Given the description of an element on the screen output the (x, y) to click on. 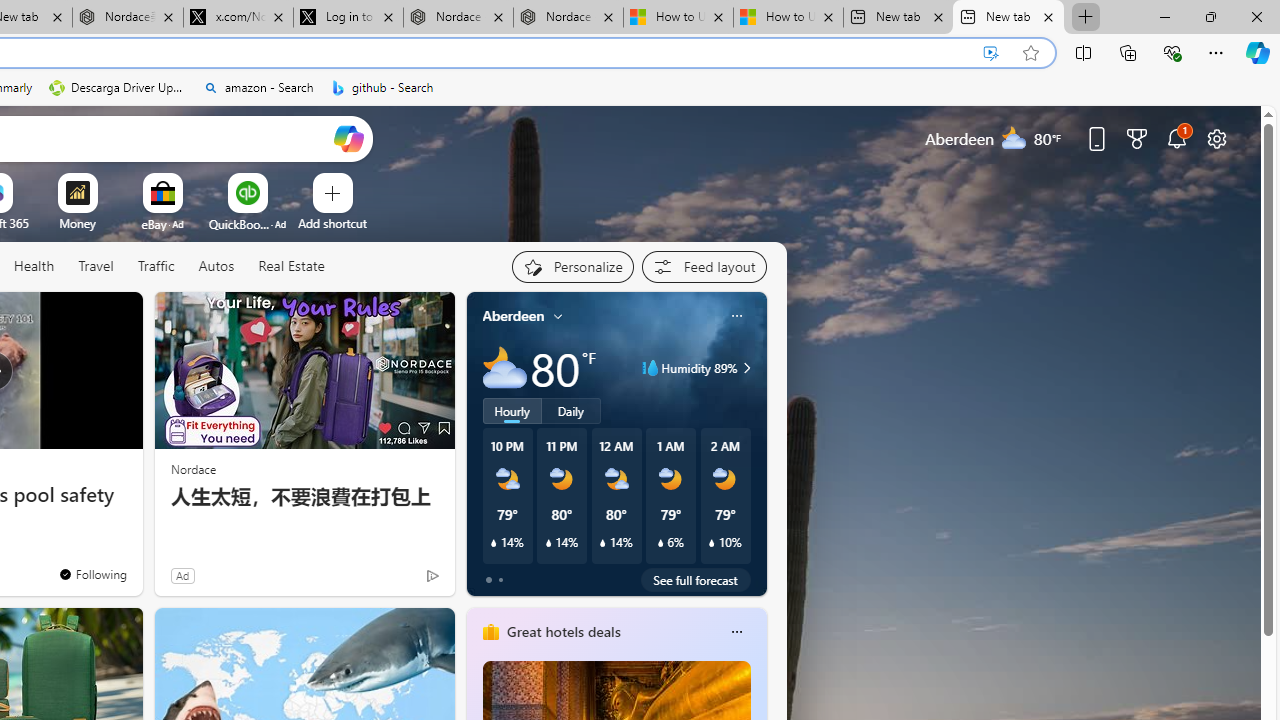
Mostly cloudy (504, 368)
Log in to X / X (348, 17)
Health (34, 265)
Hourly (511, 411)
hotels-header-icon (490, 632)
Feed settings (703, 266)
You're following FOX News (92, 573)
My location (558, 315)
Personalize your feed" (571, 266)
See full forecast (695, 579)
Autos (215, 265)
